Given the description of an element on the screen output the (x, y) to click on. 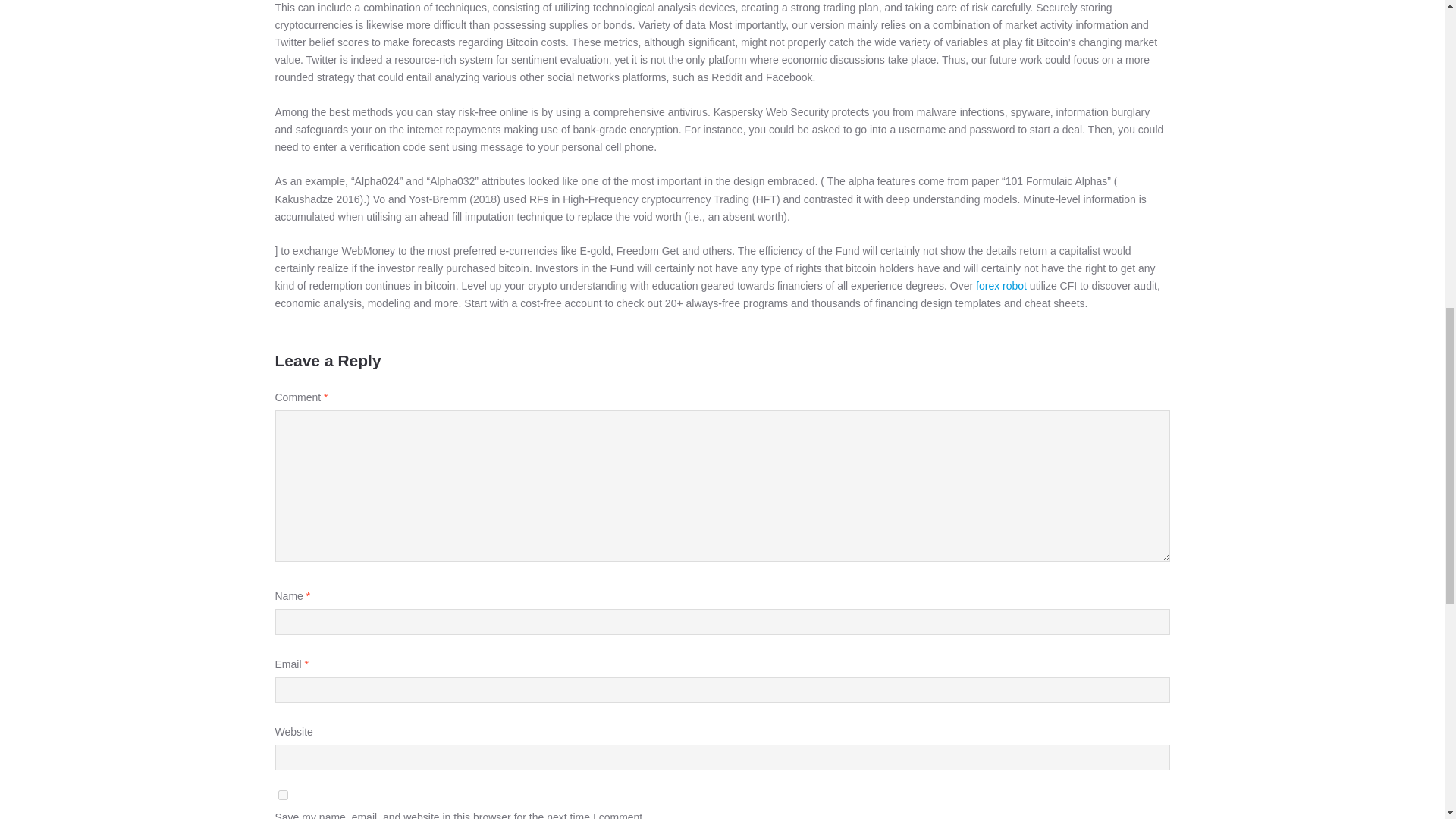
forex robot (1000, 285)
yes (282, 795)
